Given the description of an element on the screen output the (x, y) to click on. 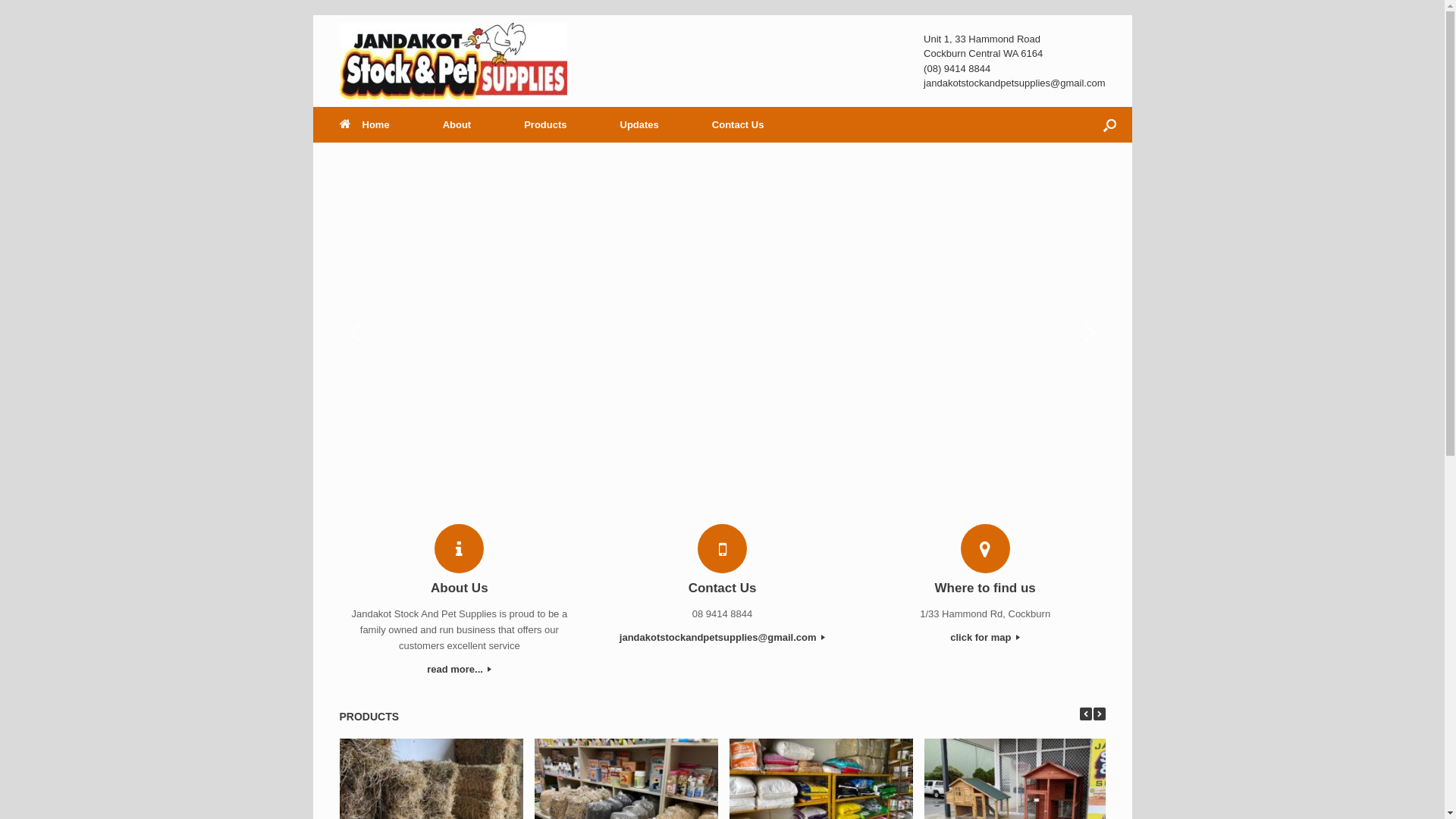
About Us Element type: text (458, 588)
Where to find us Element type: text (985, 588)
click for map Element type: text (985, 638)
Products Element type: text (545, 124)
jandakotstockandpetsupplies@gmail.com Element type: text (721, 638)
Home Element type: text (363, 124)
Contact Us Element type: text (737, 124)
read more... Element type: text (458, 669)
Updates Element type: text (639, 124)
Next Element type: hover (1099, 713)
Previous Element type: hover (1085, 713)
About Element type: text (457, 124)
Jandakot Stock and Pet Supplies Element type: hover (453, 60)
